Given the description of an element on the screen output the (x, y) to click on. 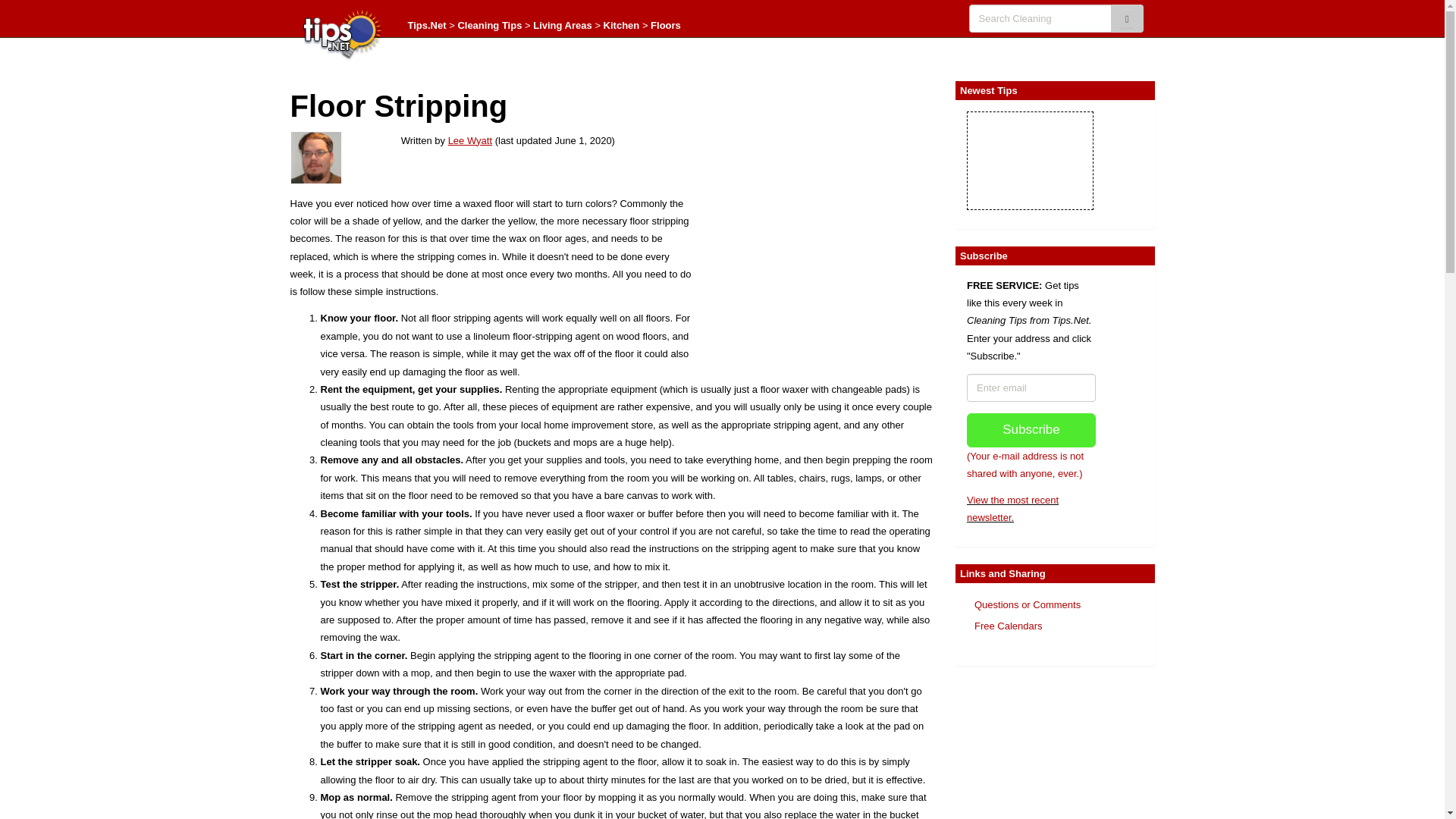
Subscribe (1031, 430)
Free Calendars (1008, 625)
Tips.Net (426, 25)
Kitchen (622, 25)
Lee Wyatt (470, 140)
Living Areas (562, 25)
Questions or Comments (1027, 604)
View the most recent newsletter. (1012, 508)
Floors (665, 25)
Cleaning Tips (489, 25)
